Given the description of an element on the screen output the (x, y) to click on. 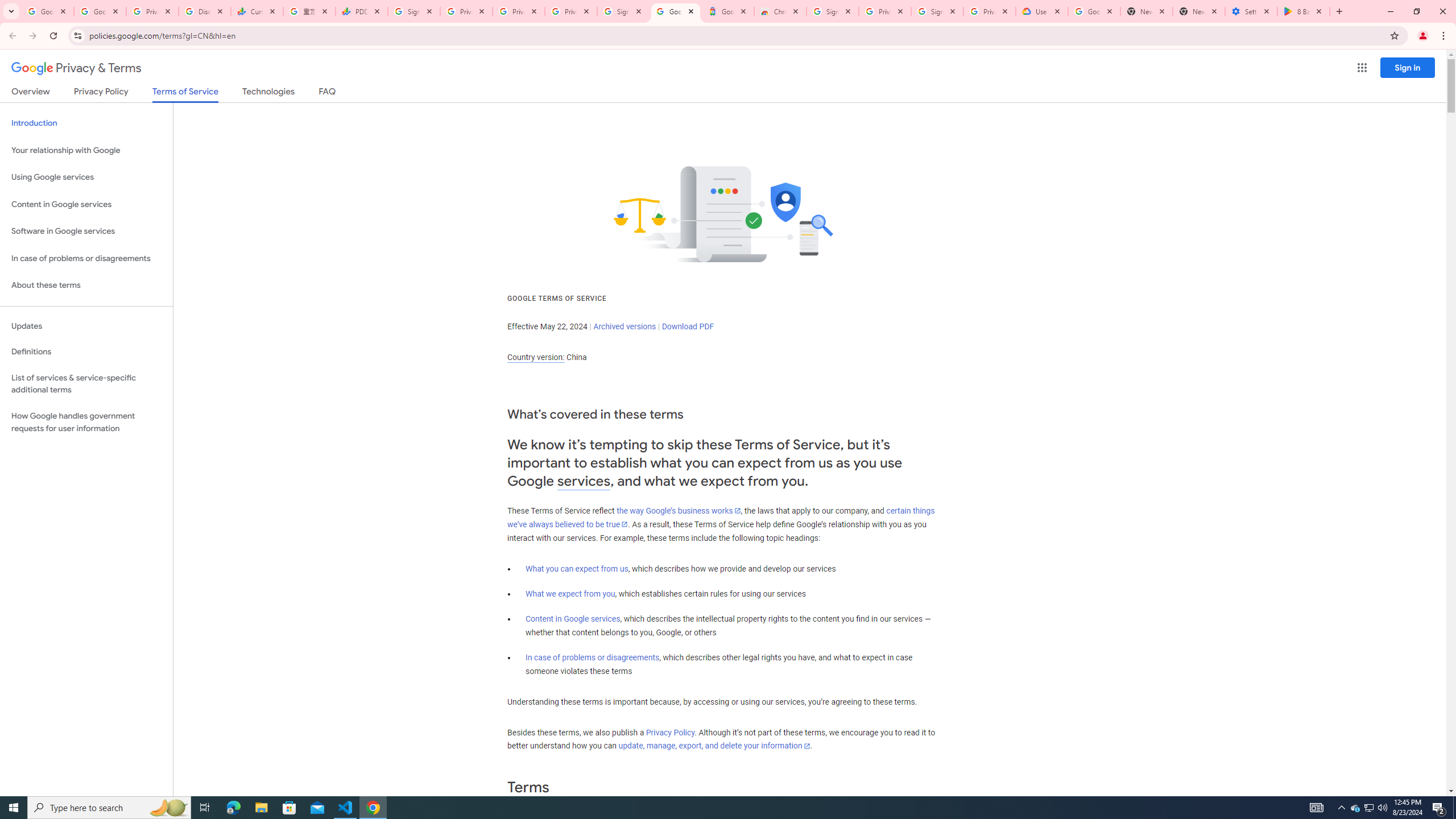
Privacy Checkup (518, 11)
About these terms (86, 284)
Google (727, 11)
8 Ball Pool - Apps on Google Play (1303, 11)
